Given the description of an element on the screen output the (x, y) to click on. 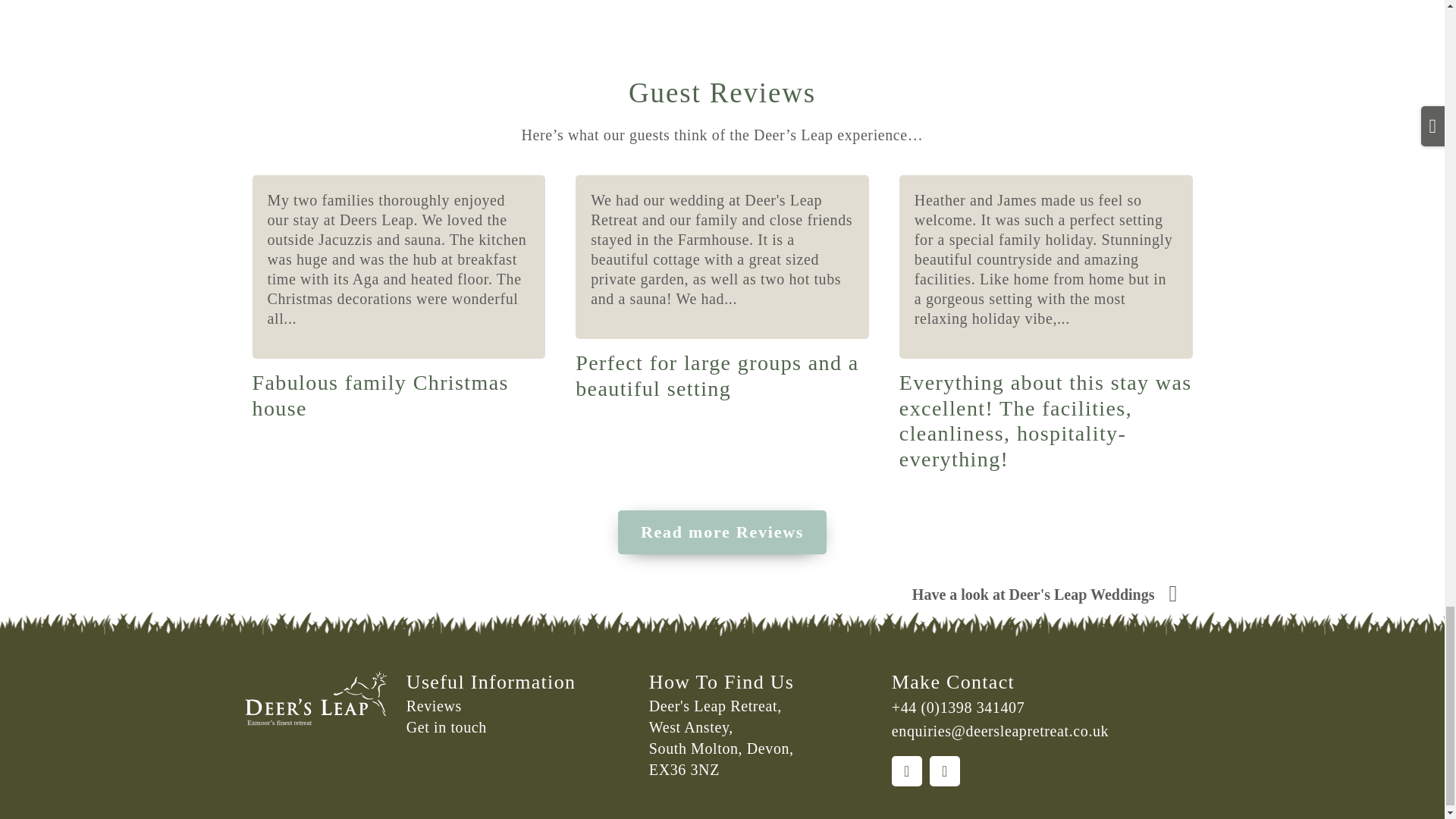
Read more Reviews (722, 532)
Have a look at Deer's Leap Weddings (1044, 596)
Reviews (519, 705)
Get in touch (519, 727)
